Given the description of an element on the screen output the (x, y) to click on. 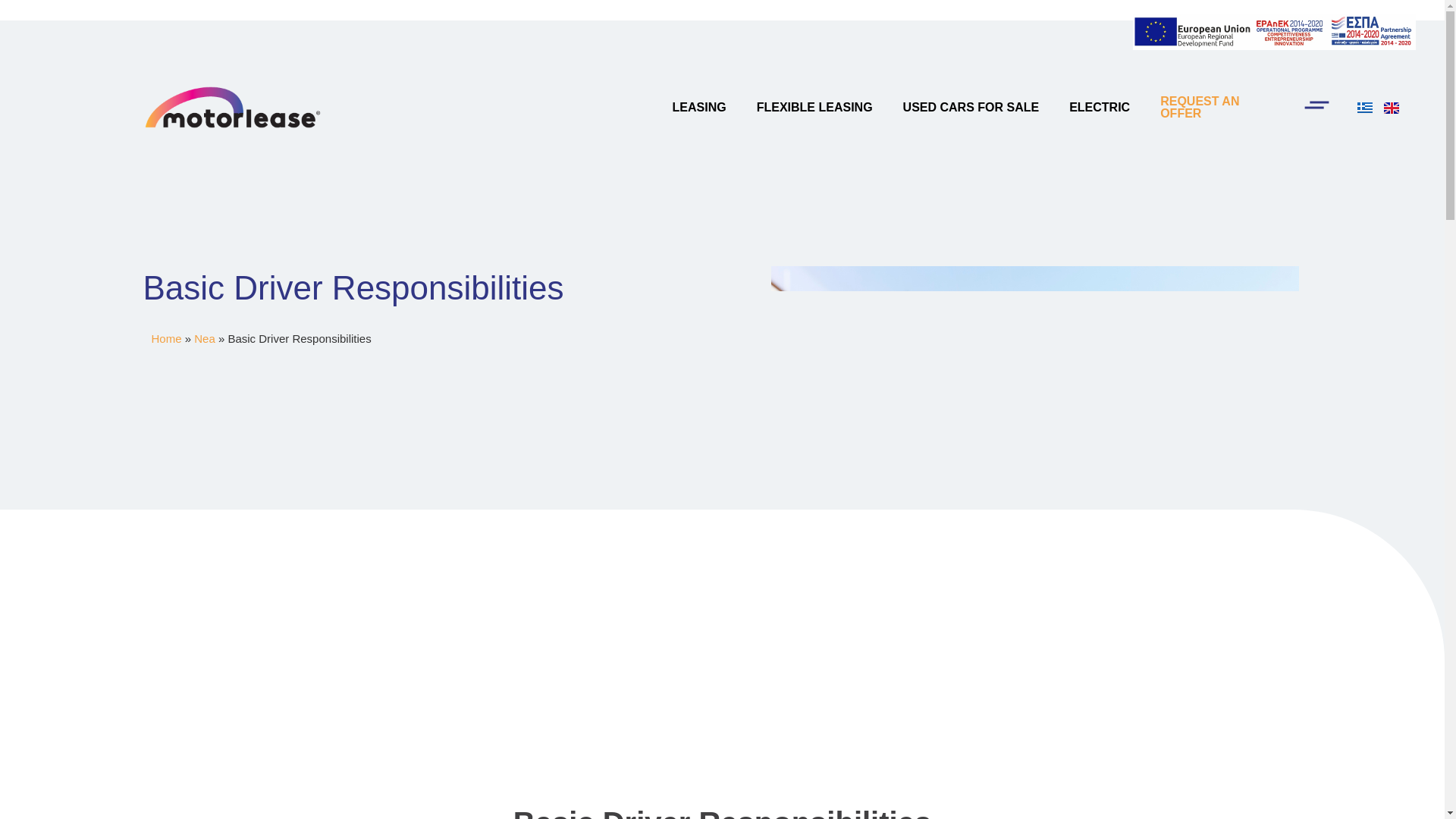
REQUEST AN OFFER (1199, 107)
ELECTRIC (1099, 107)
USED CARS FOR SALE (971, 107)
LEASING (699, 107)
FLEXIBLE LEASING (814, 107)
Nea (204, 338)
Home (166, 338)
